Given the description of an element on the screen output the (x, y) to click on. 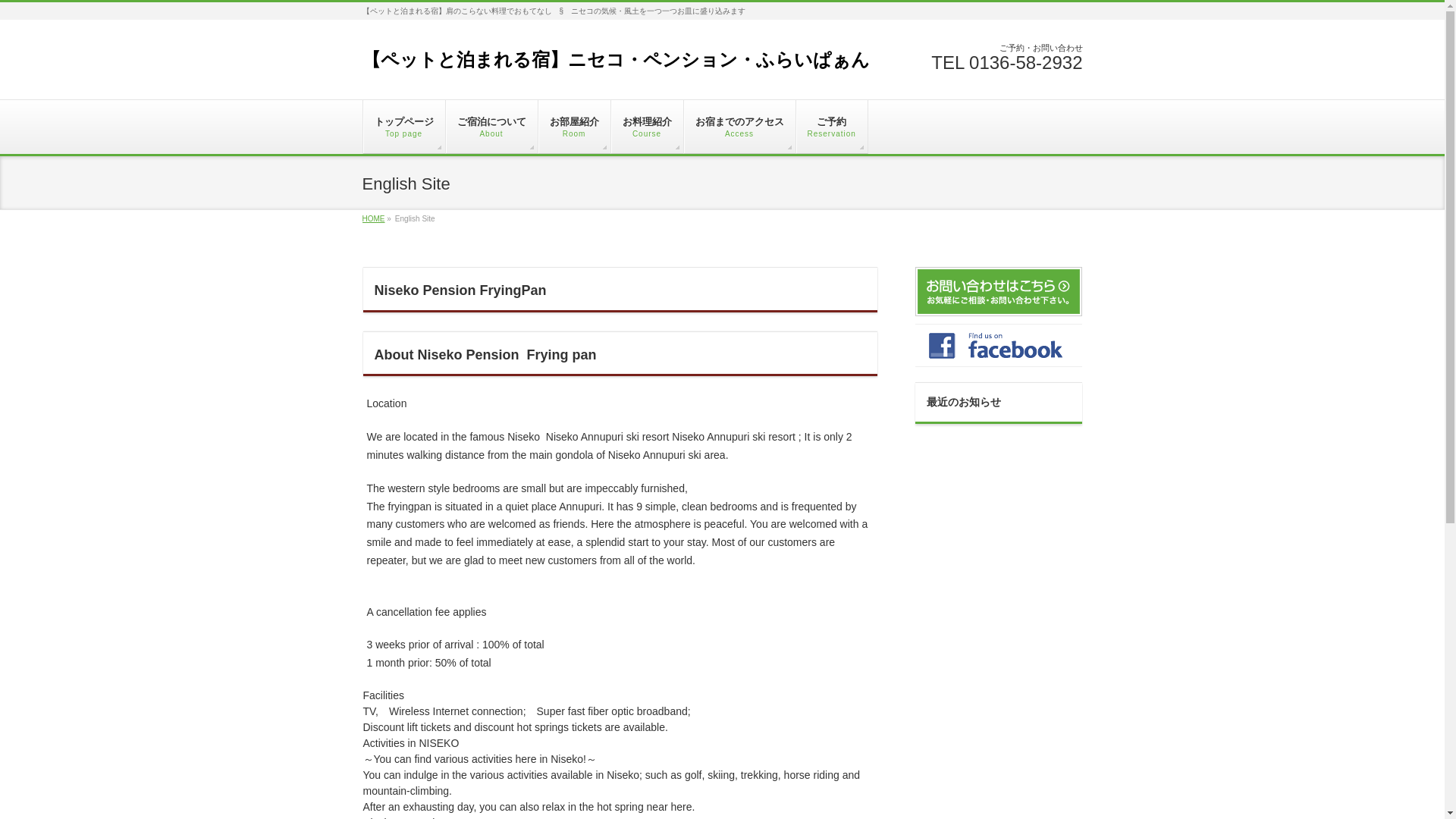
HOME (373, 218)
